Given the description of an element on the screen output the (x, y) to click on. 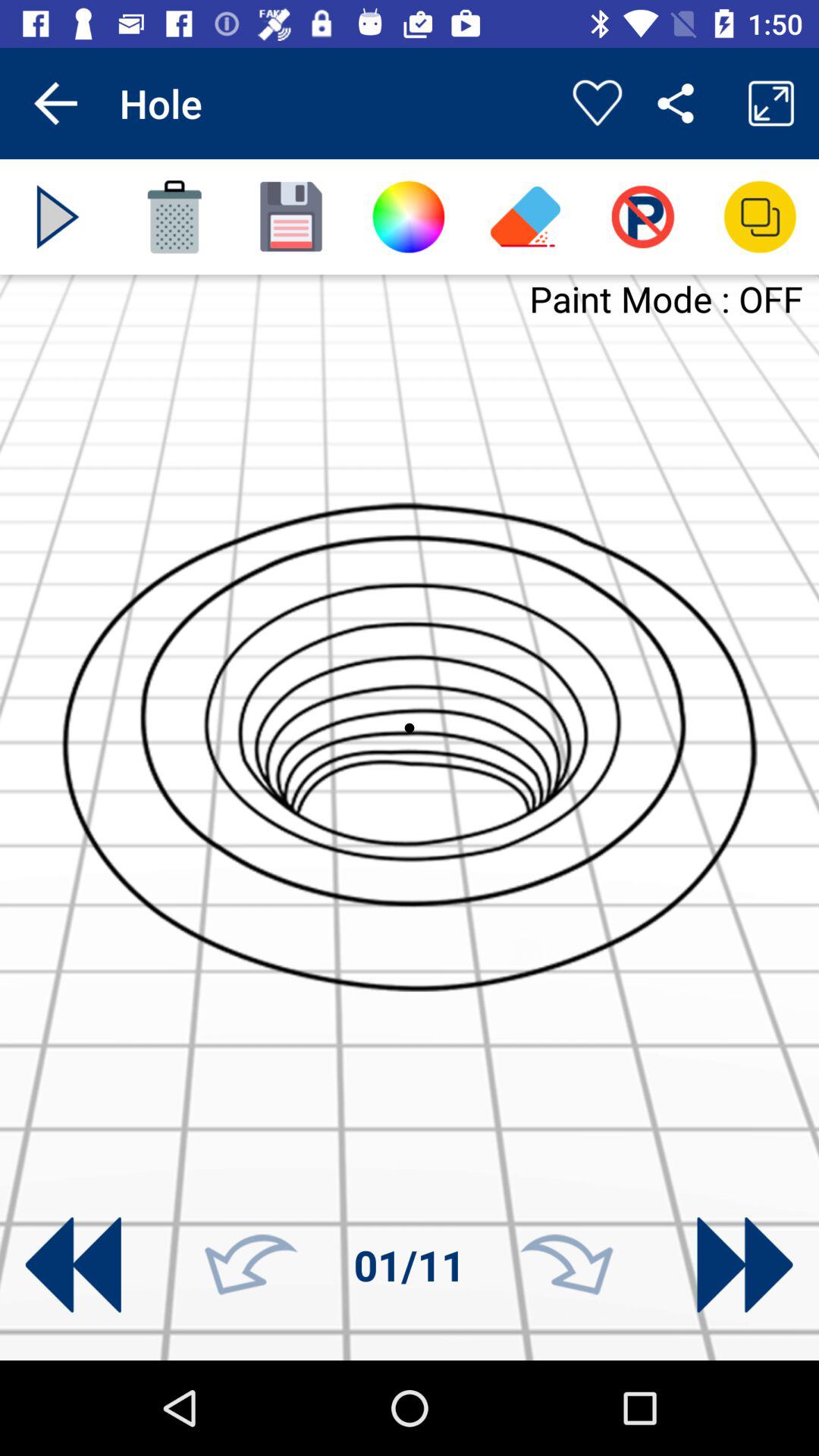
advance to next page (744, 1264)
